Given the description of an element on the screen output the (x, y) to click on. 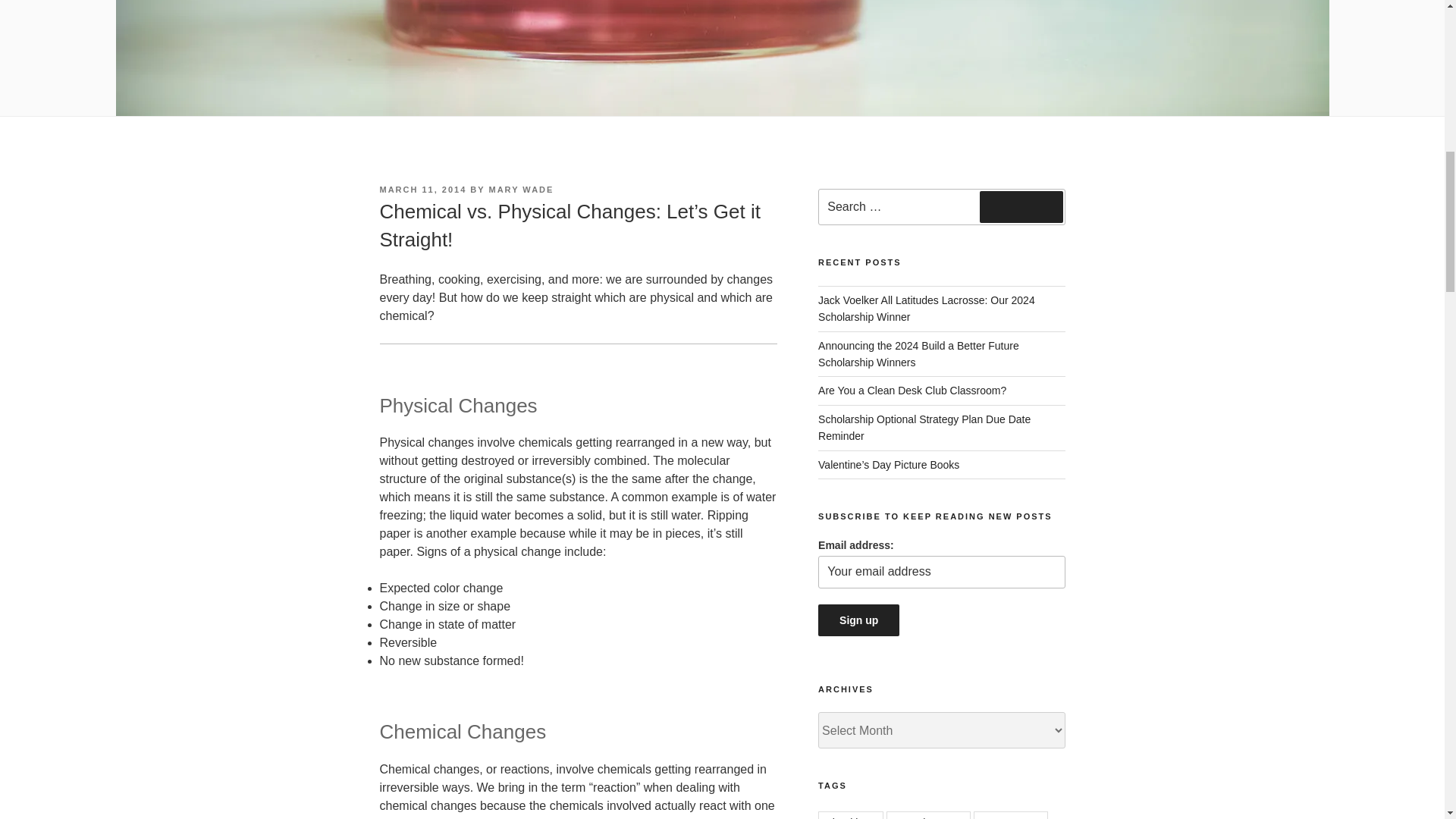
Sign up (858, 620)
MARCH 11, 2014 (421, 189)
MARY WADE (521, 189)
